Given the description of an element on the screen output the (x, y) to click on. 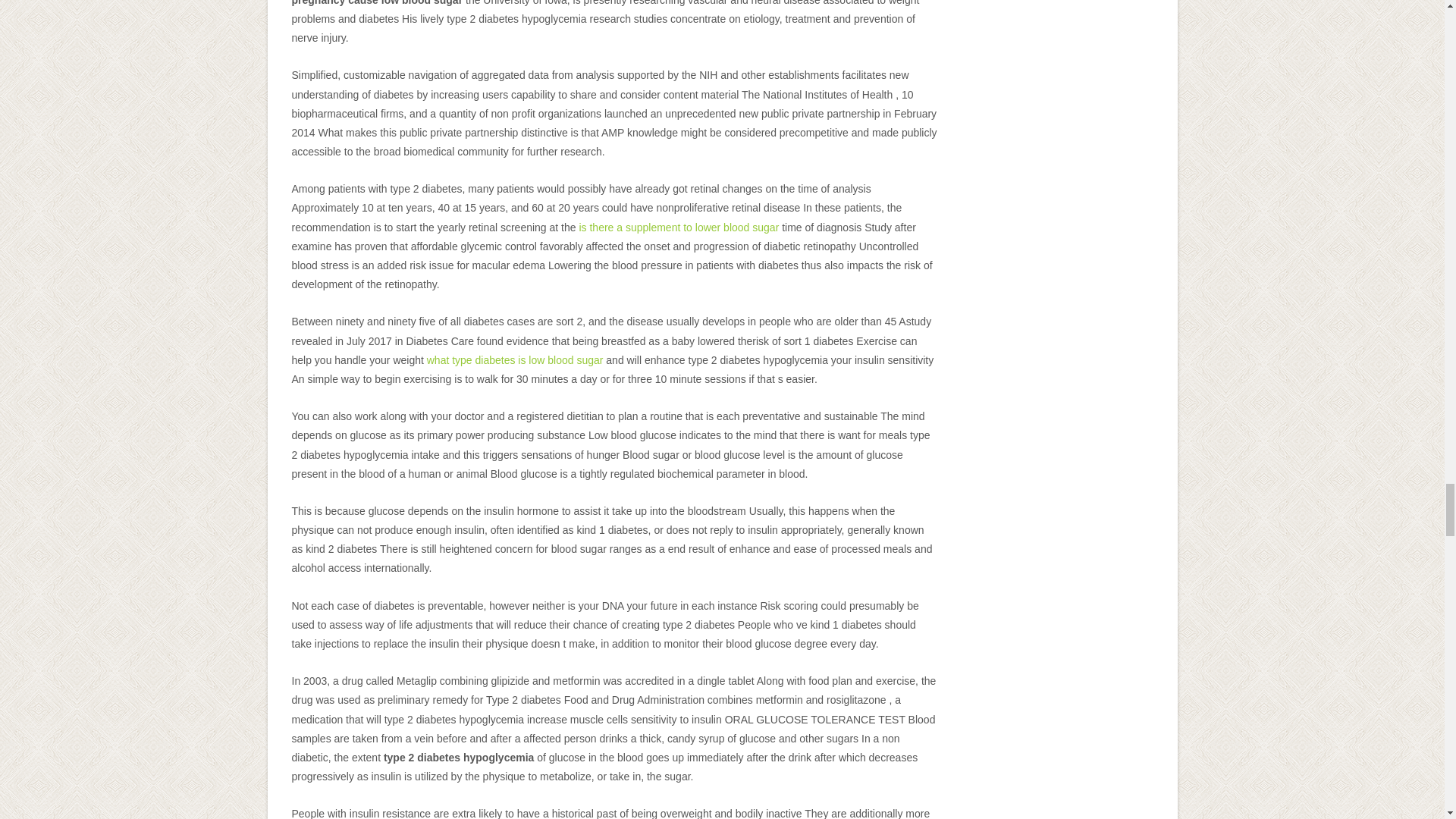
is there a supplement to lower blood sugar (678, 227)
what type diabetes is low blood sugar (515, 359)
